Given the description of an element on the screen output the (x, y) to click on. 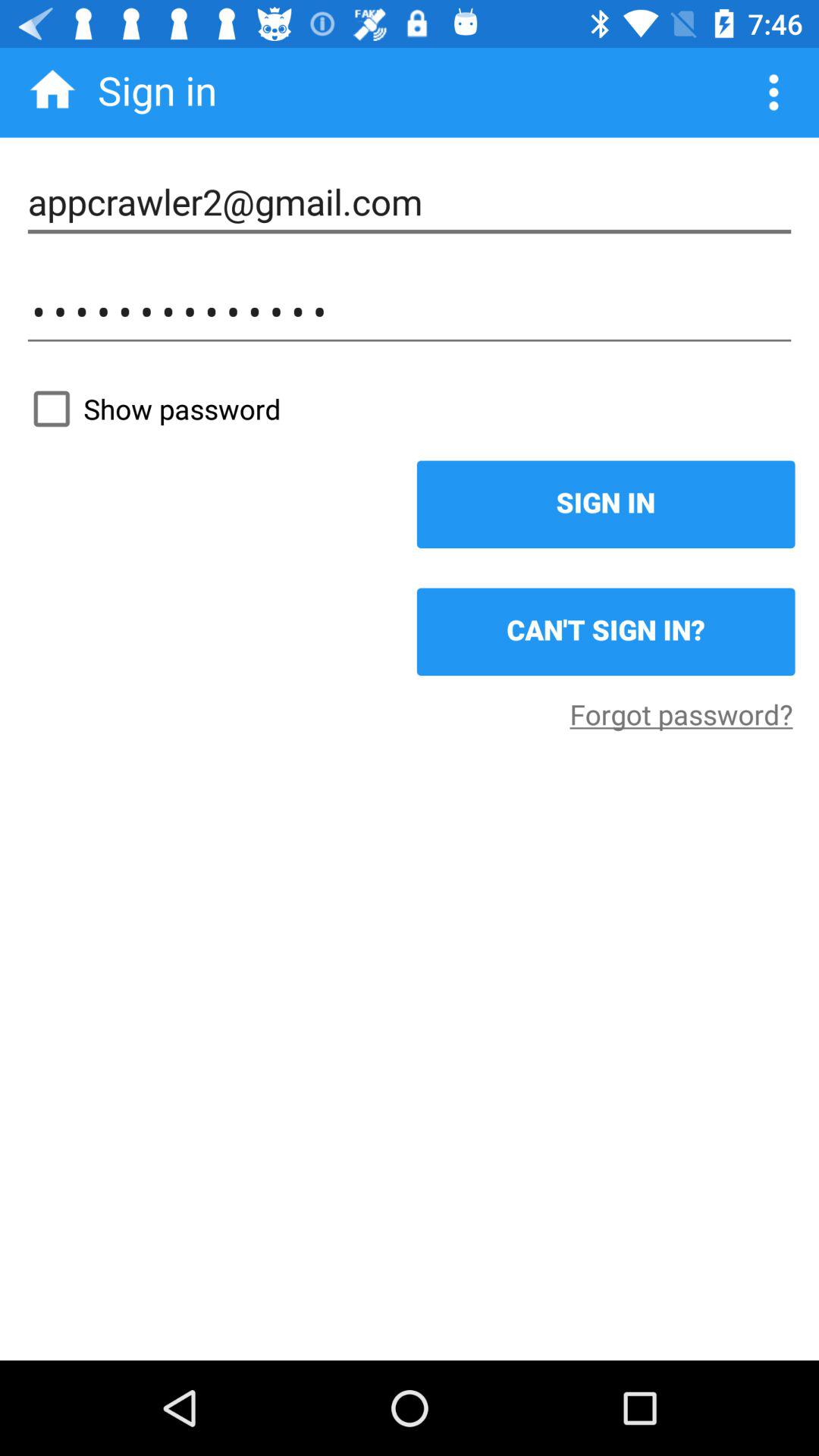
choose the appcrawler2@gmail.com icon (409, 202)
